Given the description of an element on the screen output the (x, y) to click on. 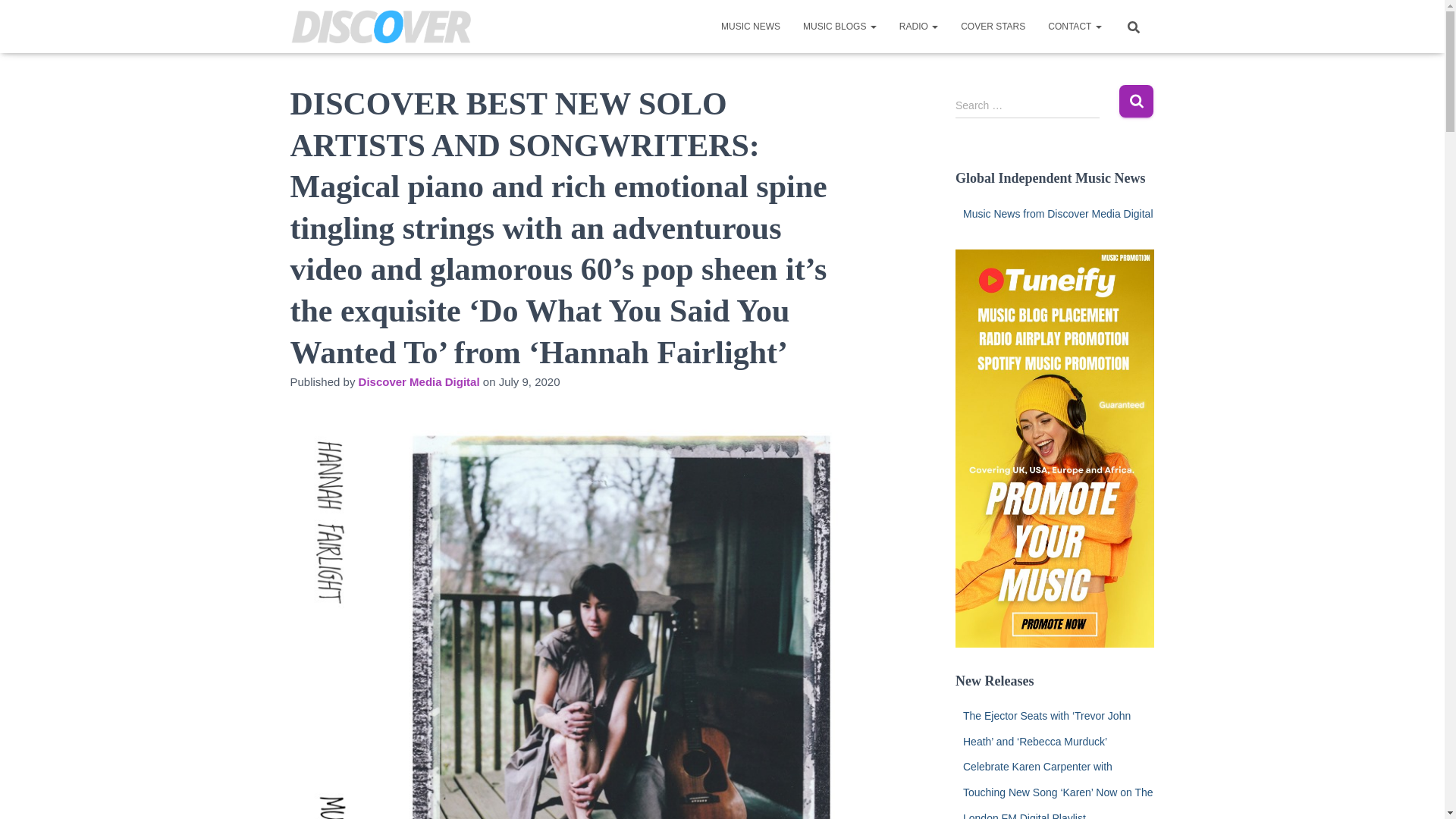
Radio (918, 26)
Search (1136, 101)
MUSIC NEWS (751, 26)
RADIO (918, 26)
COVER STARS (992, 26)
Music News (751, 26)
Music Blogs (840, 26)
Search (1136, 101)
Discover Media Digital (419, 381)
CONTACT (1074, 26)
